Given the description of an element on the screen output the (x, y) to click on. 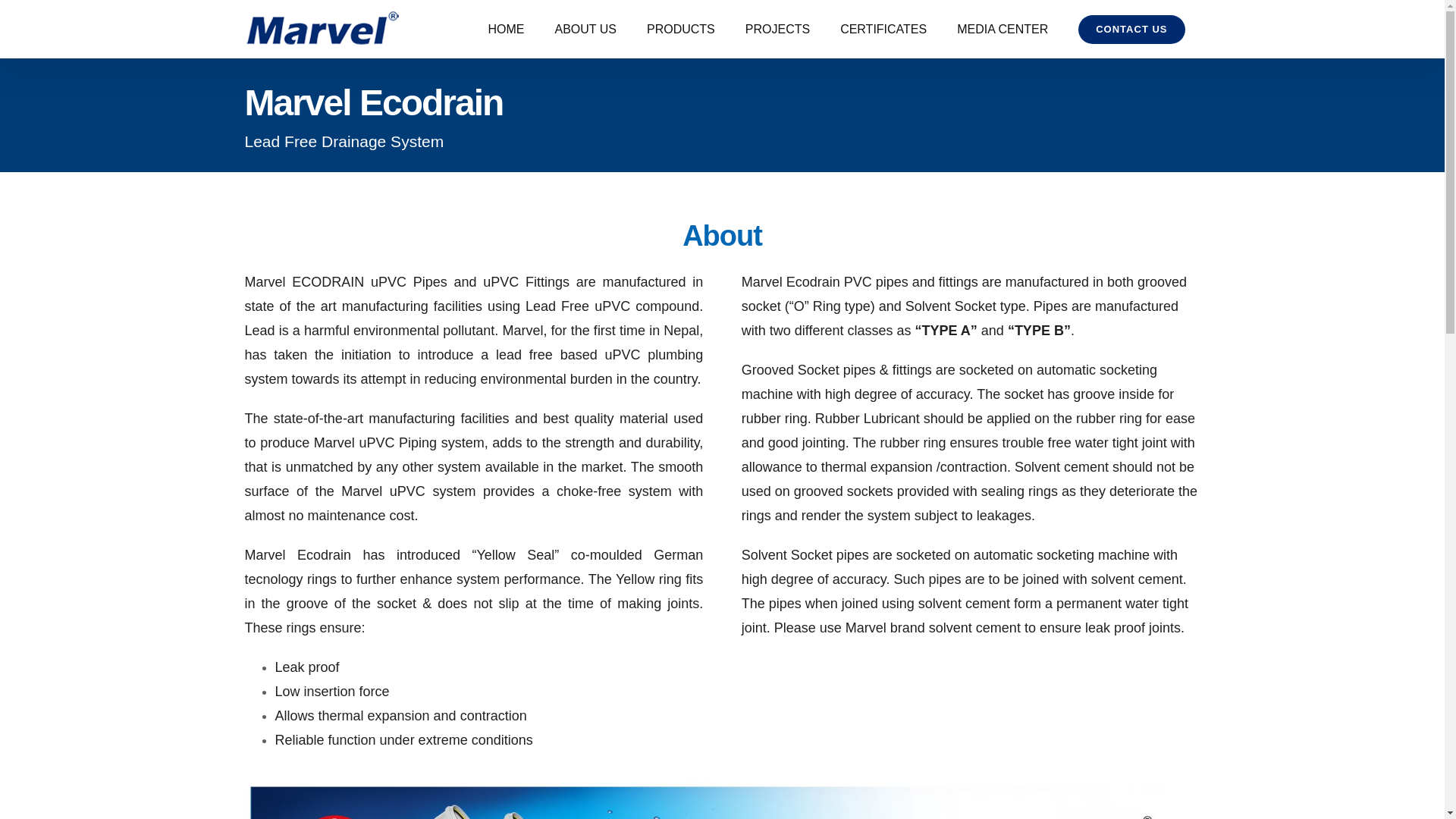
ABOUT US (585, 29)
CERTIFICATES (883, 29)
MEDIA CENTER (1002, 29)
PRODUCTS (680, 29)
PROJECTS (777, 29)
HOME (506, 29)
Ecodrain 1 (721, 800)
CONTACT US (1130, 29)
